Given the description of an element on the screen output the (x, y) to click on. 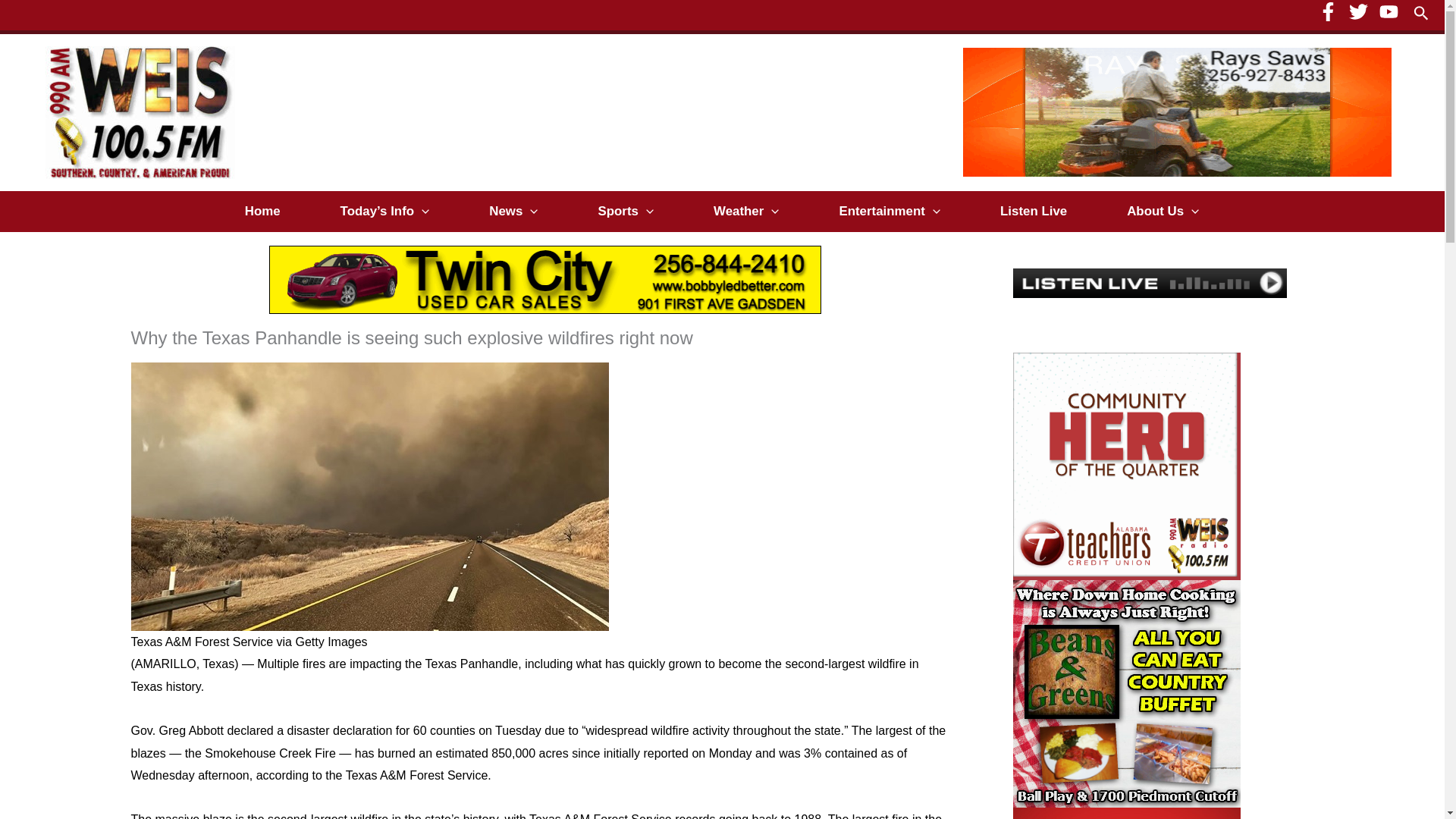
News (513, 210)
Home (263, 210)
Sports (625, 210)
